Given the description of an element on the screen output the (x, y) to click on. 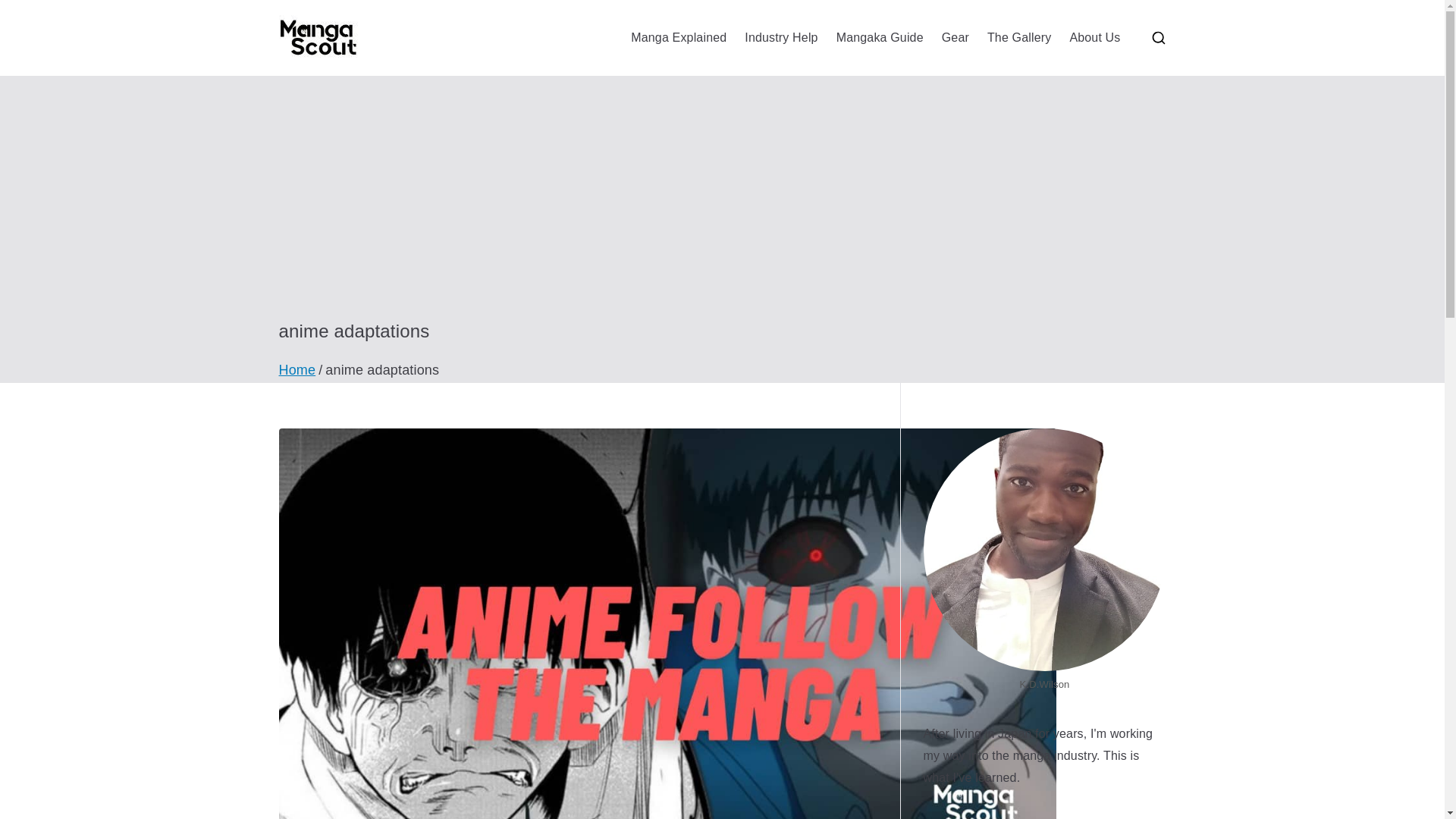
Gear (955, 38)
Manga Explained (678, 38)
Home (297, 369)
Industry Help (780, 38)
Search (26, 12)
About Us (1093, 38)
Mangaka Guide (879, 38)
The Gallery (1019, 38)
